Given the description of an element on the screen output the (x, y) to click on. 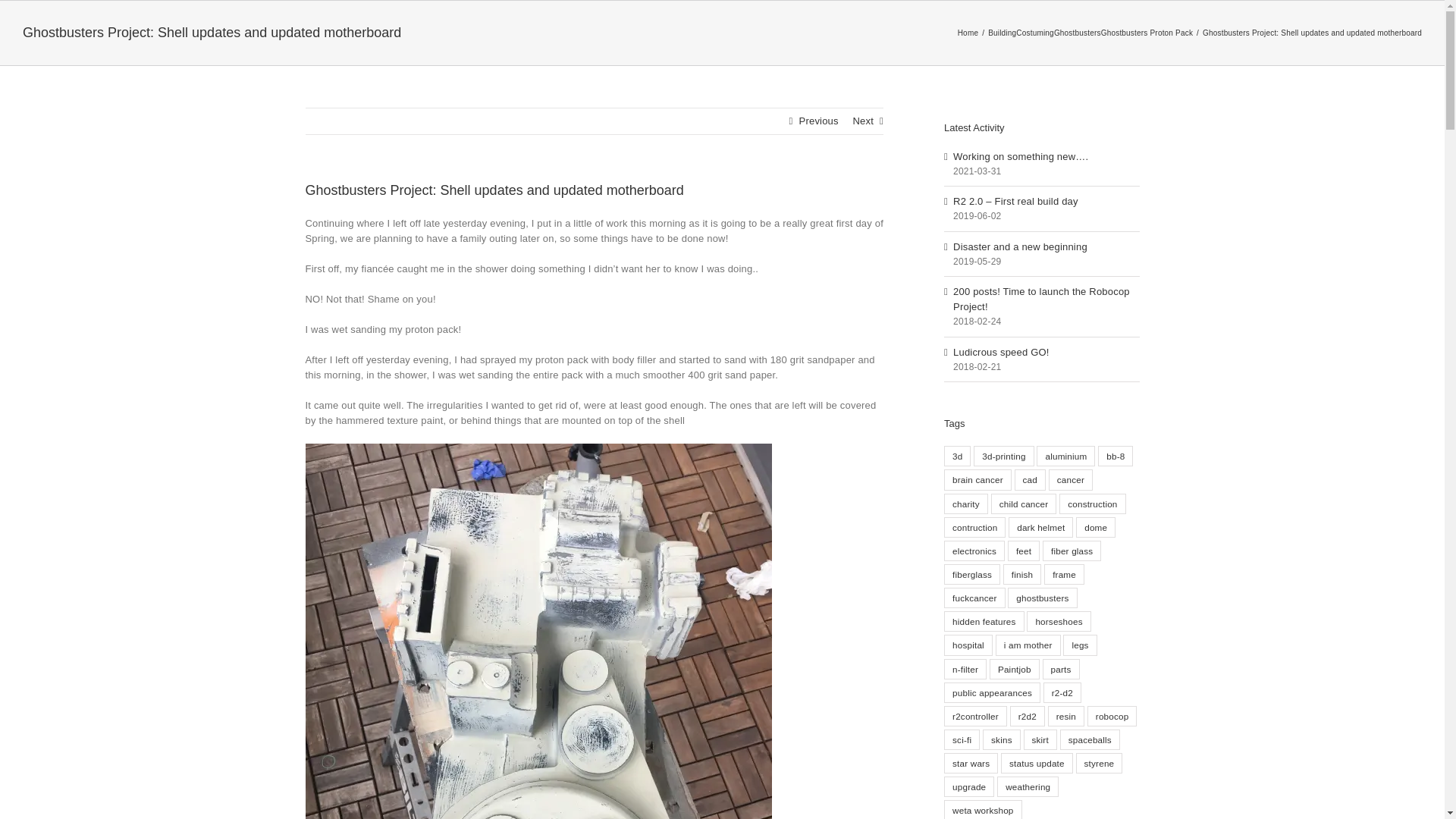
Costuming (1035, 32)
Ghostbusters Proton Pack (1146, 32)
Previous (818, 121)
Building (1002, 32)
Ghostbusters (1077, 32)
Home (968, 32)
